Given the description of an element on the screen output the (x, y) to click on. 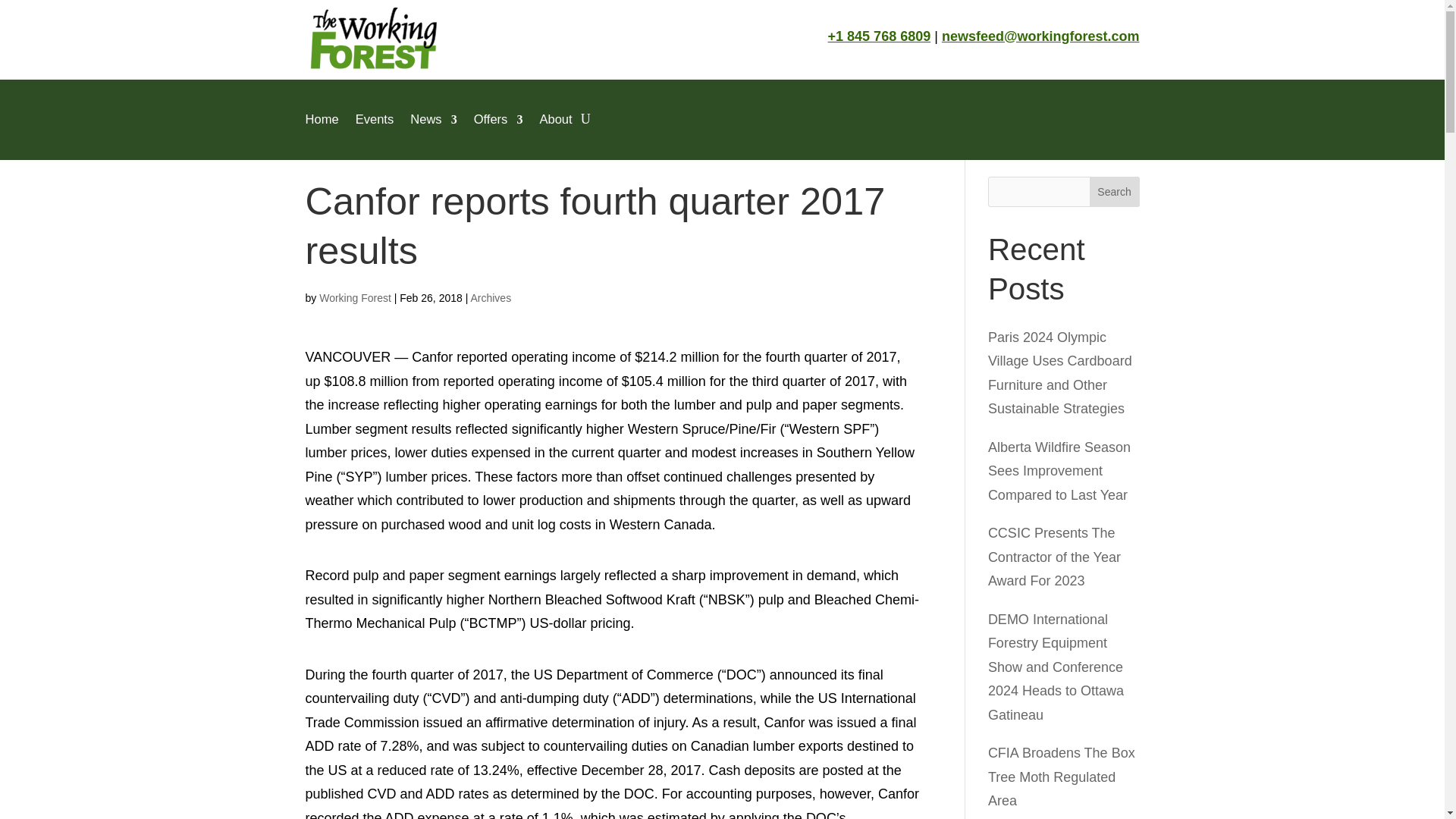
Posts by Working Forest (354, 297)
